Given the description of an element on the screen output the (x, y) to click on. 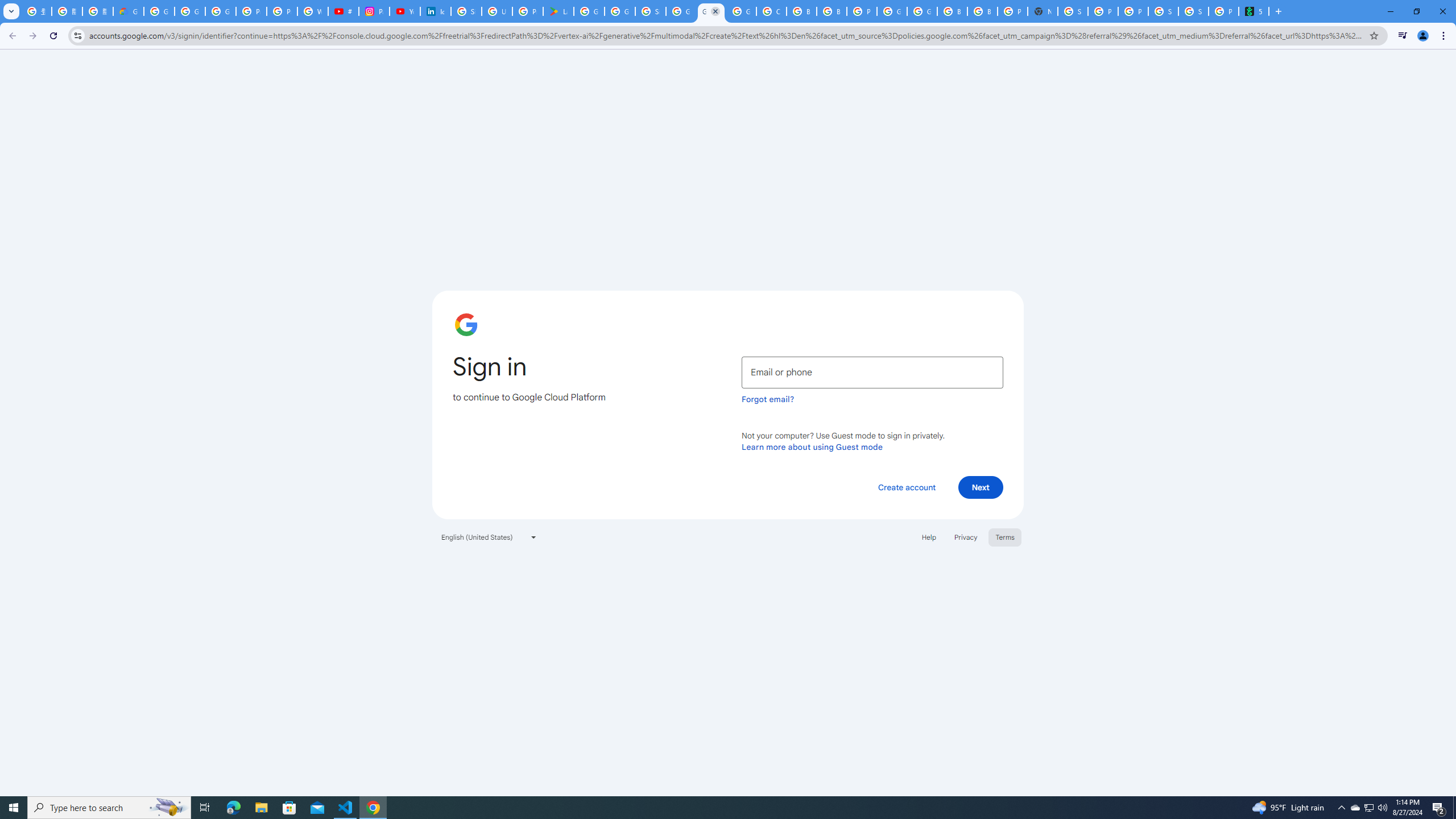
Last Shelter: Survival - Apps on Google Play (558, 11)
Email or phone (872, 372)
Google Cloud Platform (892, 11)
Google Cloud Platform (710, 11)
Privacy (965, 536)
Forgot email? (767, 398)
Create account (905, 486)
